Given the description of an element on the screen output the (x, y) to click on. 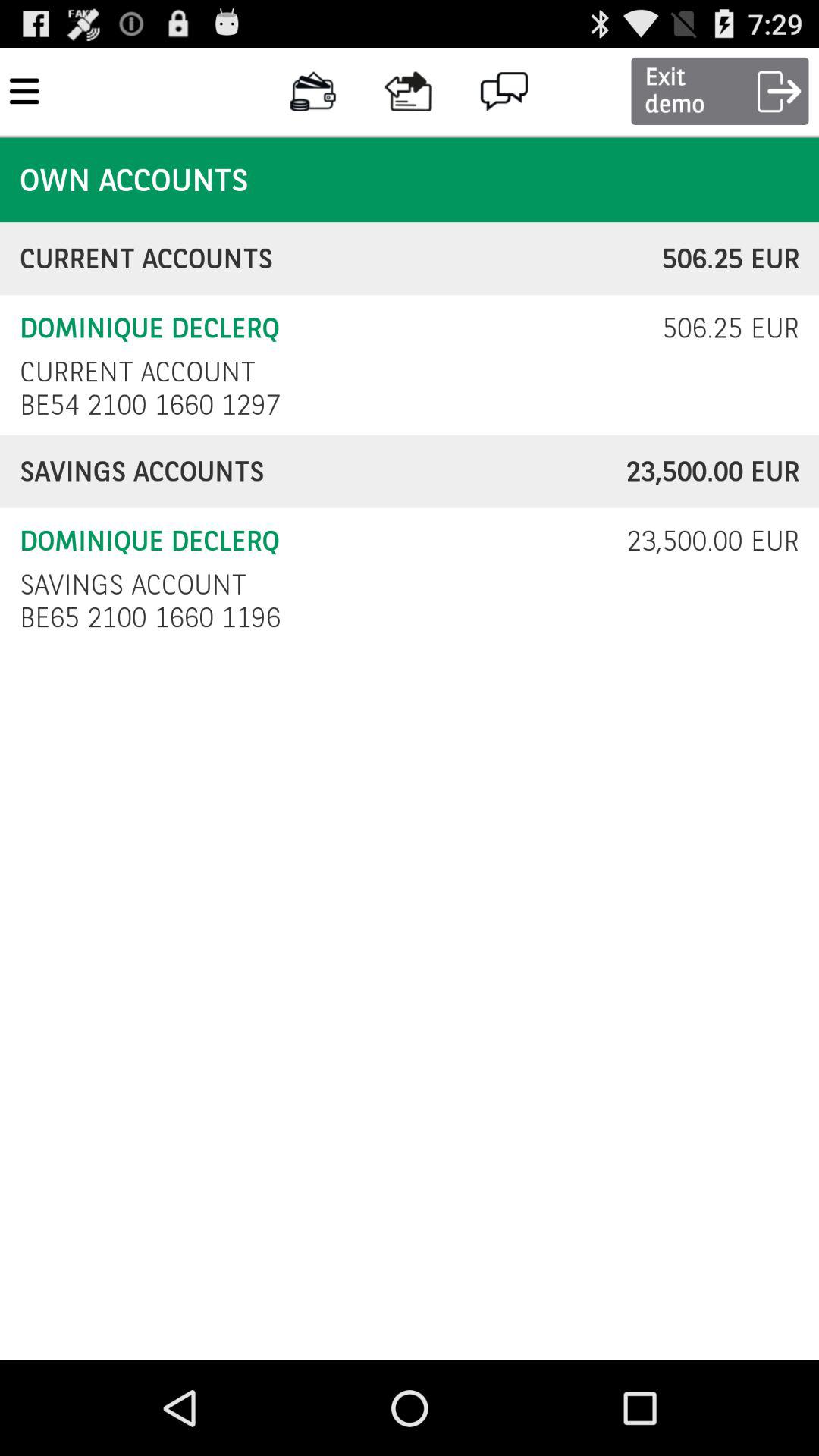
scroll to be65 2100 1660 checkbox (153, 617)
